Given the description of an element on the screen output the (x, y) to click on. 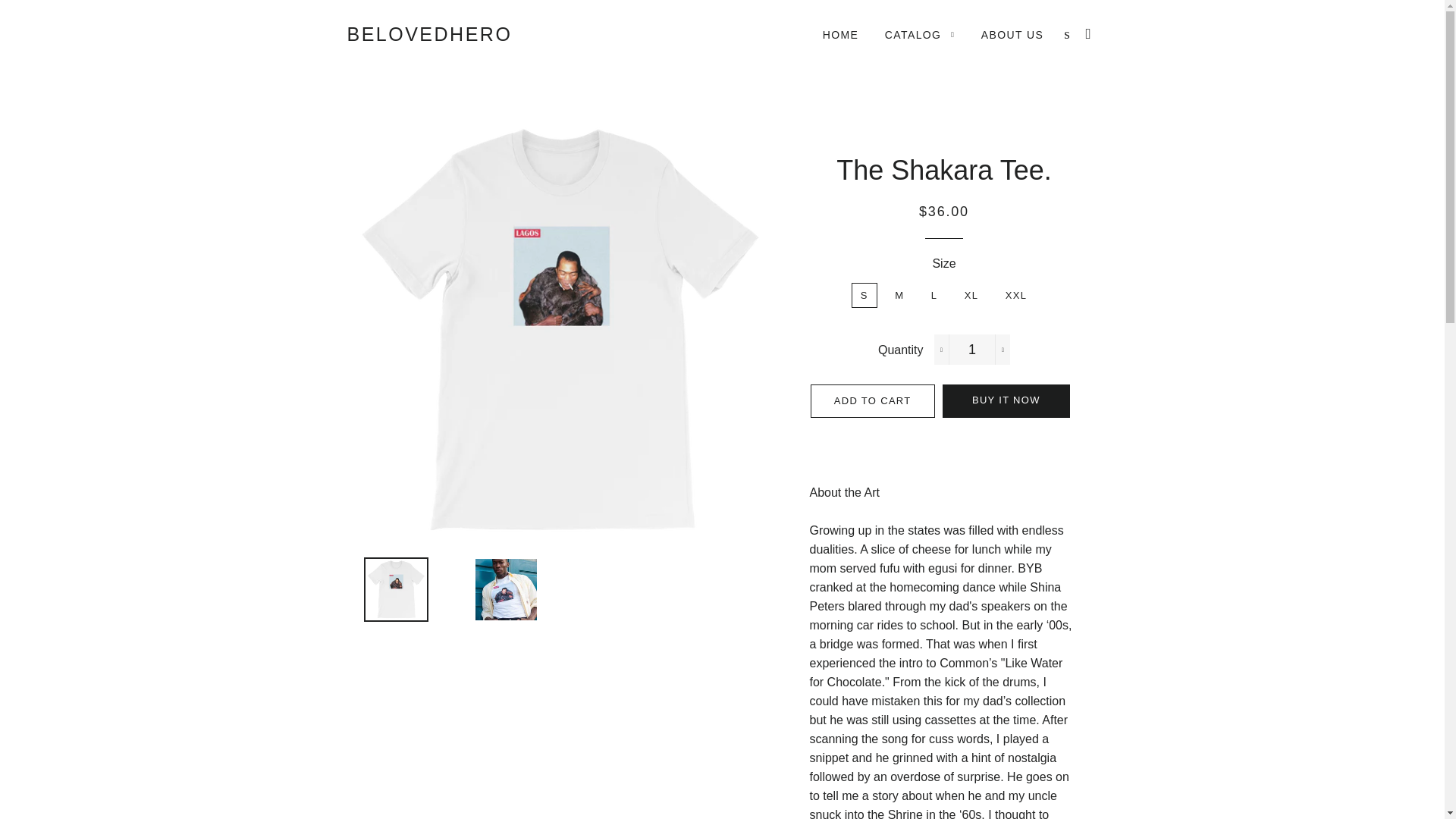
BUY IT NOW (1006, 400)
1 (972, 349)
BELOVEDHERO (429, 34)
ADD TO CART (872, 400)
CATALOG (919, 35)
ABOUT US (1012, 35)
HOME (840, 35)
